Given the description of an element on the screen output the (x, y) to click on. 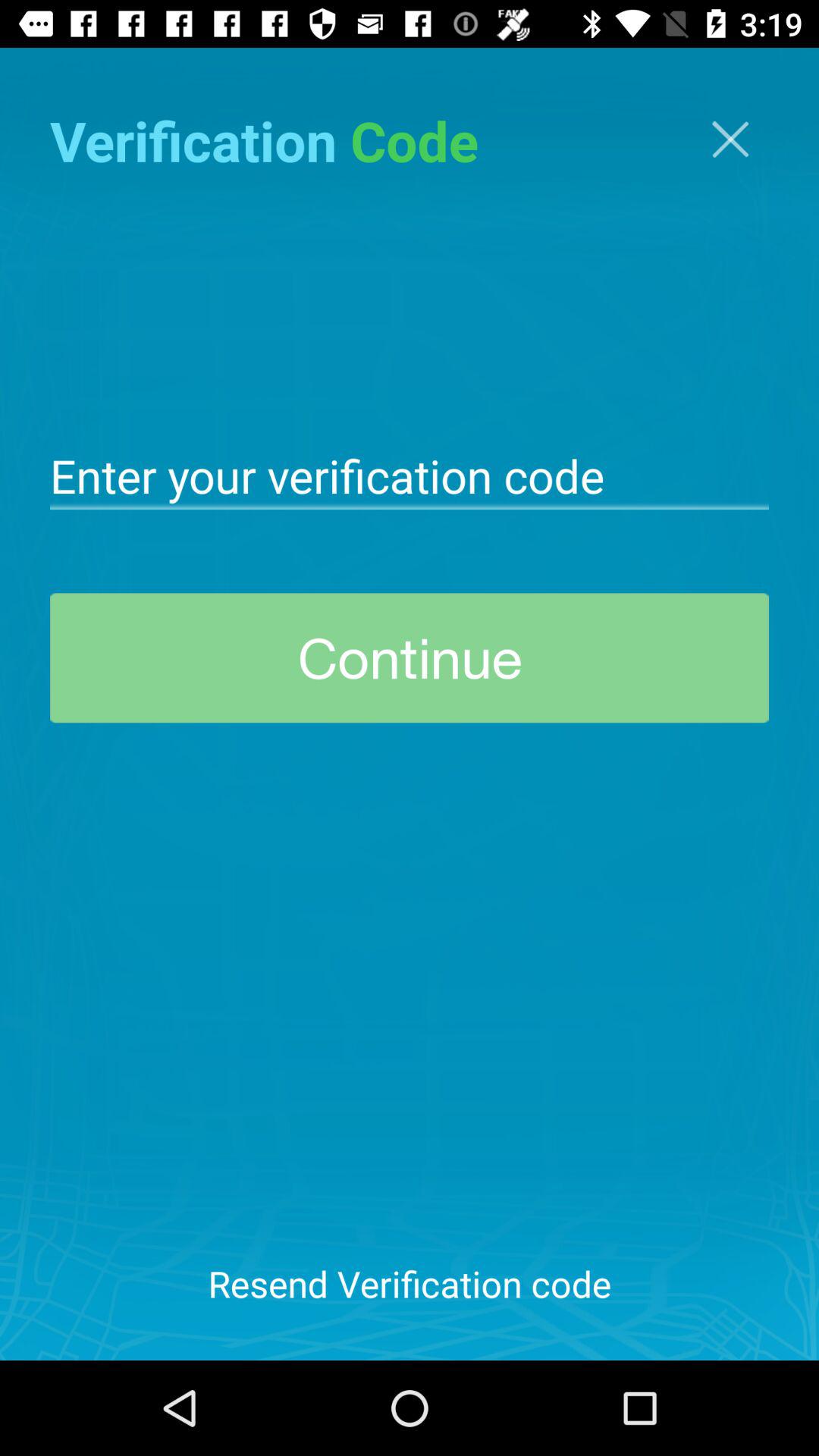
flip to the continue item (409, 657)
